Given the description of an element on the screen output the (x, y) to click on. 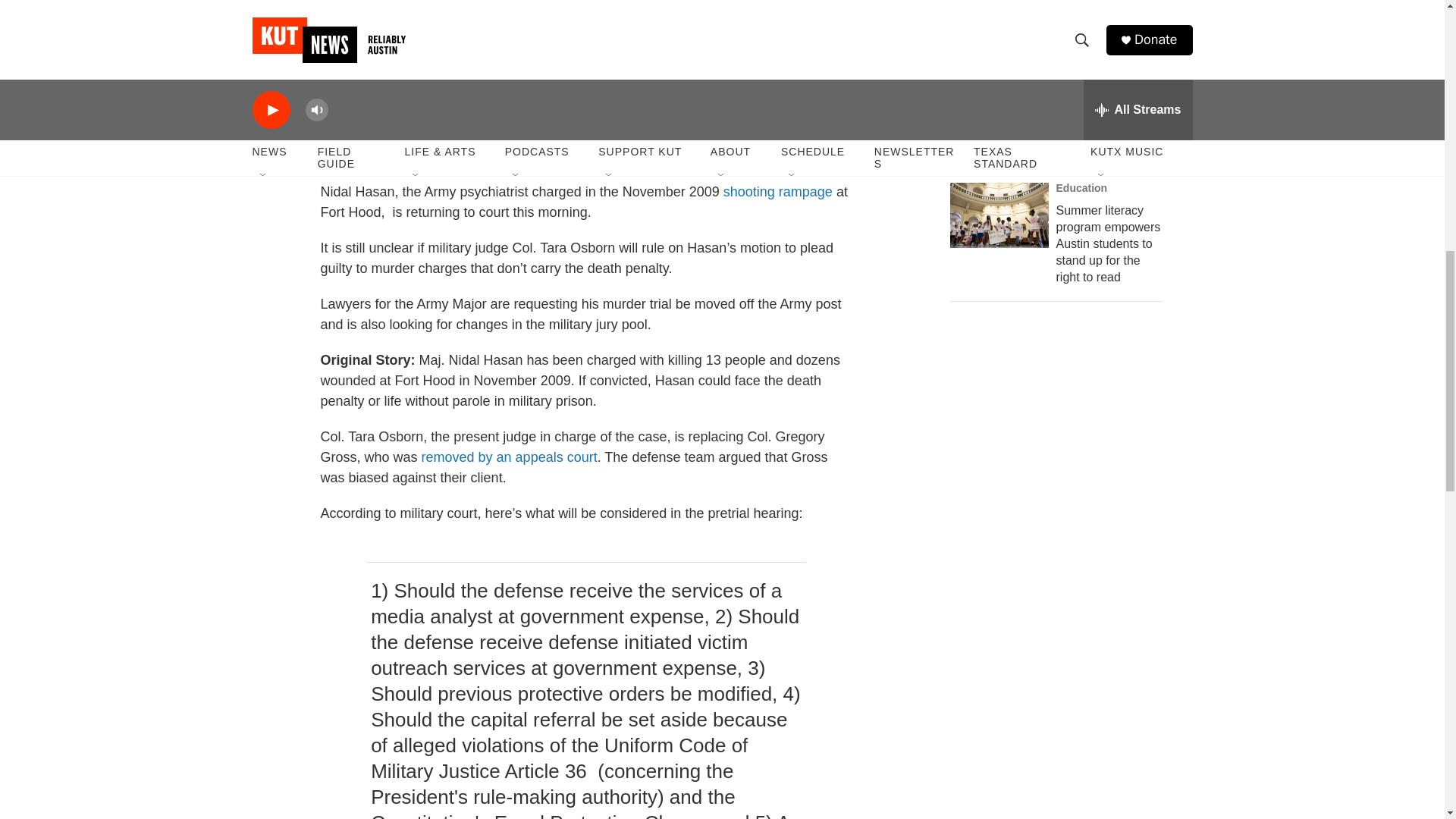
3rd party ad content (1062, 647)
3rd party ad content (1062, 426)
